Given the description of an element on the screen output the (x, y) to click on. 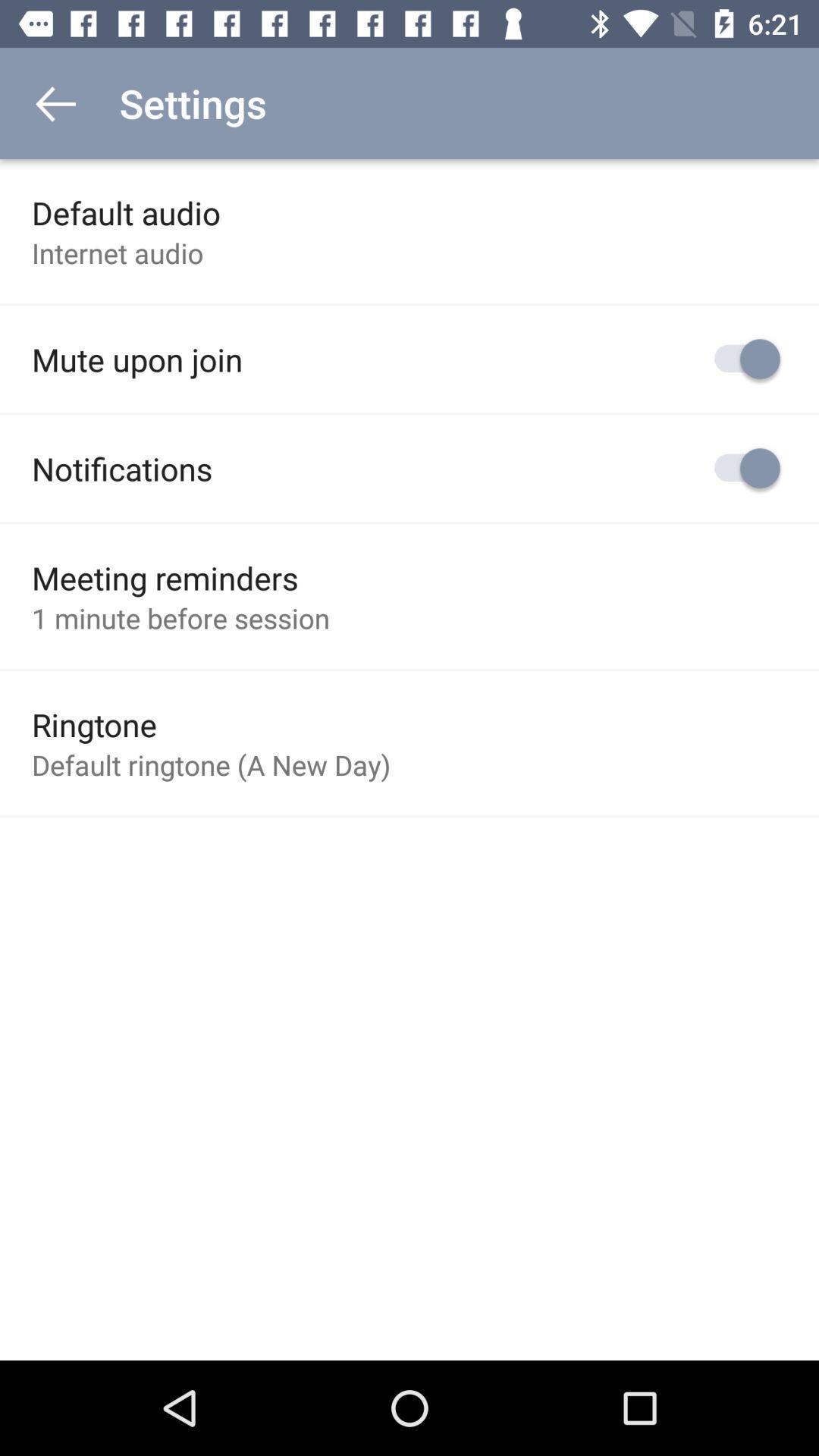
jump to meeting reminders icon (164, 577)
